Given the description of an element on the screen output the (x, y) to click on. 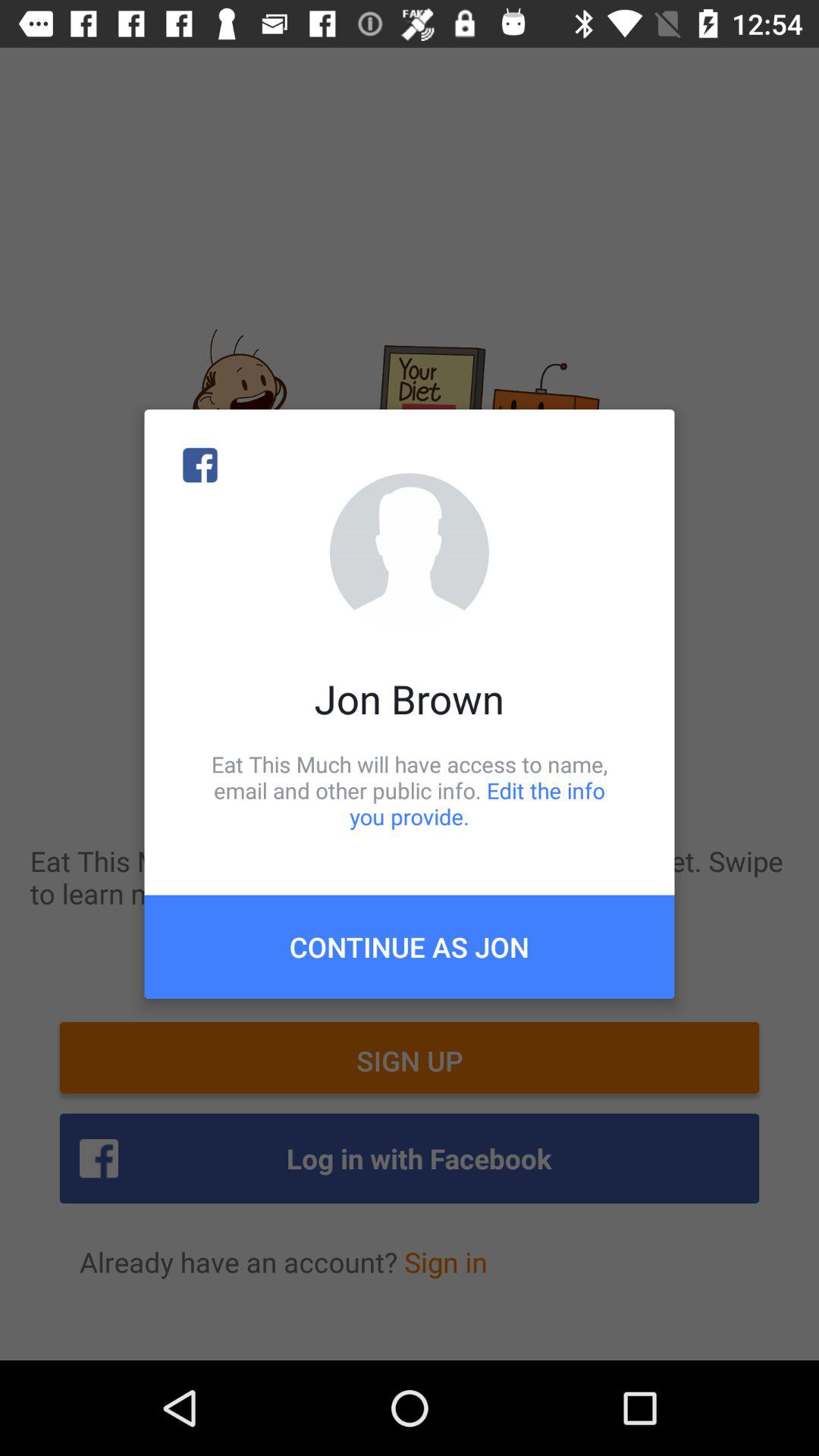
turn off item above the continue as jon (409, 790)
